Given the description of an element on the screen output the (x, y) to click on. 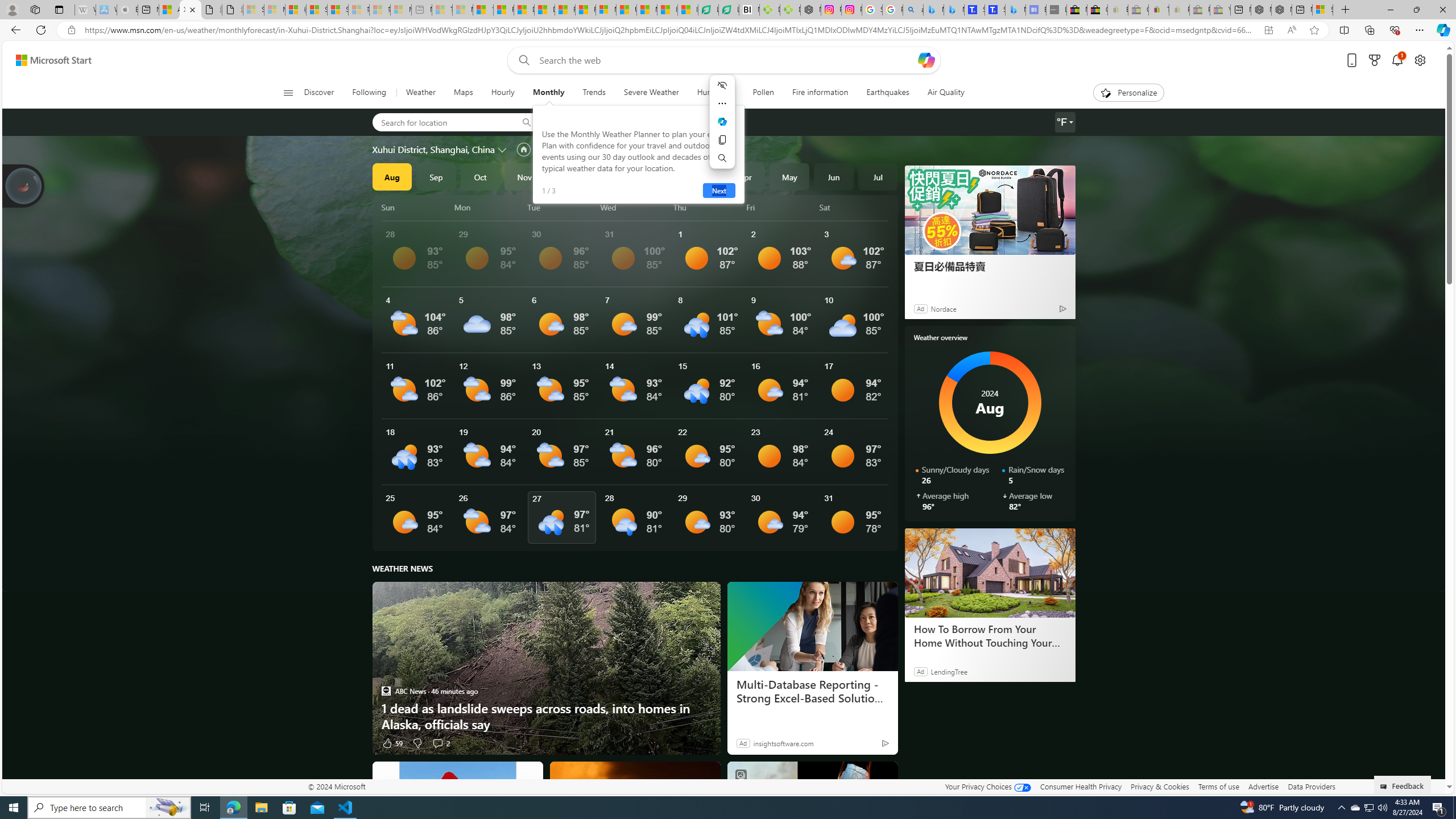
Personalize (1128, 92)
Descarga Driver Updater (789, 9)
Safety in Our Products - Google Safety Center (871, 9)
Web search (520, 60)
Hourly (502, 92)
59 Like (392, 742)
Nordace - Summer Adventures 2024 (1281, 9)
2025 Jan (612, 176)
Payments Terms of Use | eBay.com - Sleeping (1178, 9)
Fire information (820, 92)
